Given the description of an element on the screen output the (x, y) to click on. 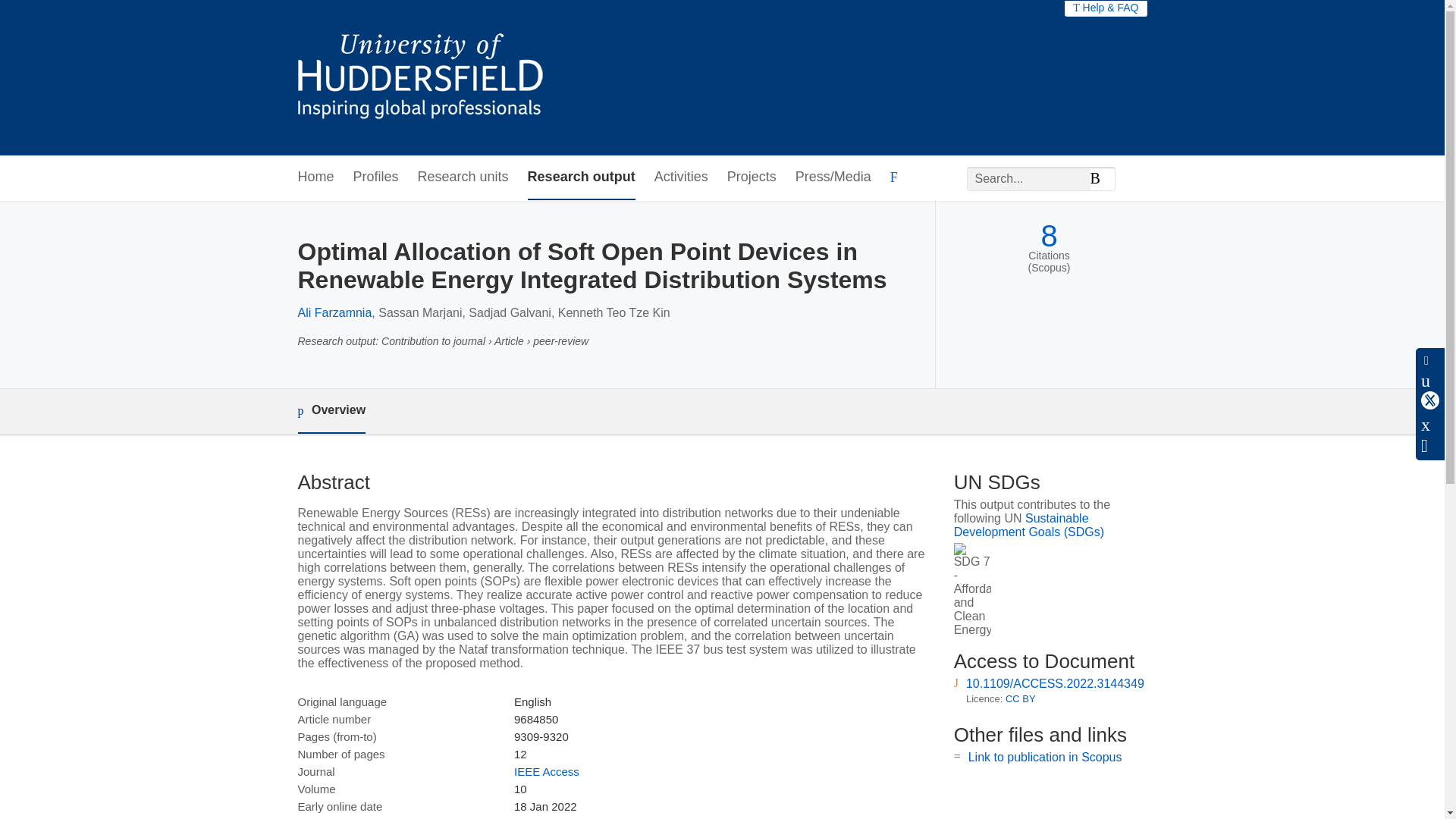
IEEE Access (546, 771)
Ali Farzamnia (334, 312)
Research output (580, 177)
CC BY (1020, 698)
Overview (331, 411)
University of Huddersfield Research Portal Home (431, 77)
Profiles (375, 177)
Projects (751, 177)
Research units (462, 177)
Activities (680, 177)
Link to publication in Scopus (1045, 757)
